Given the description of an element on the screen output the (x, y) to click on. 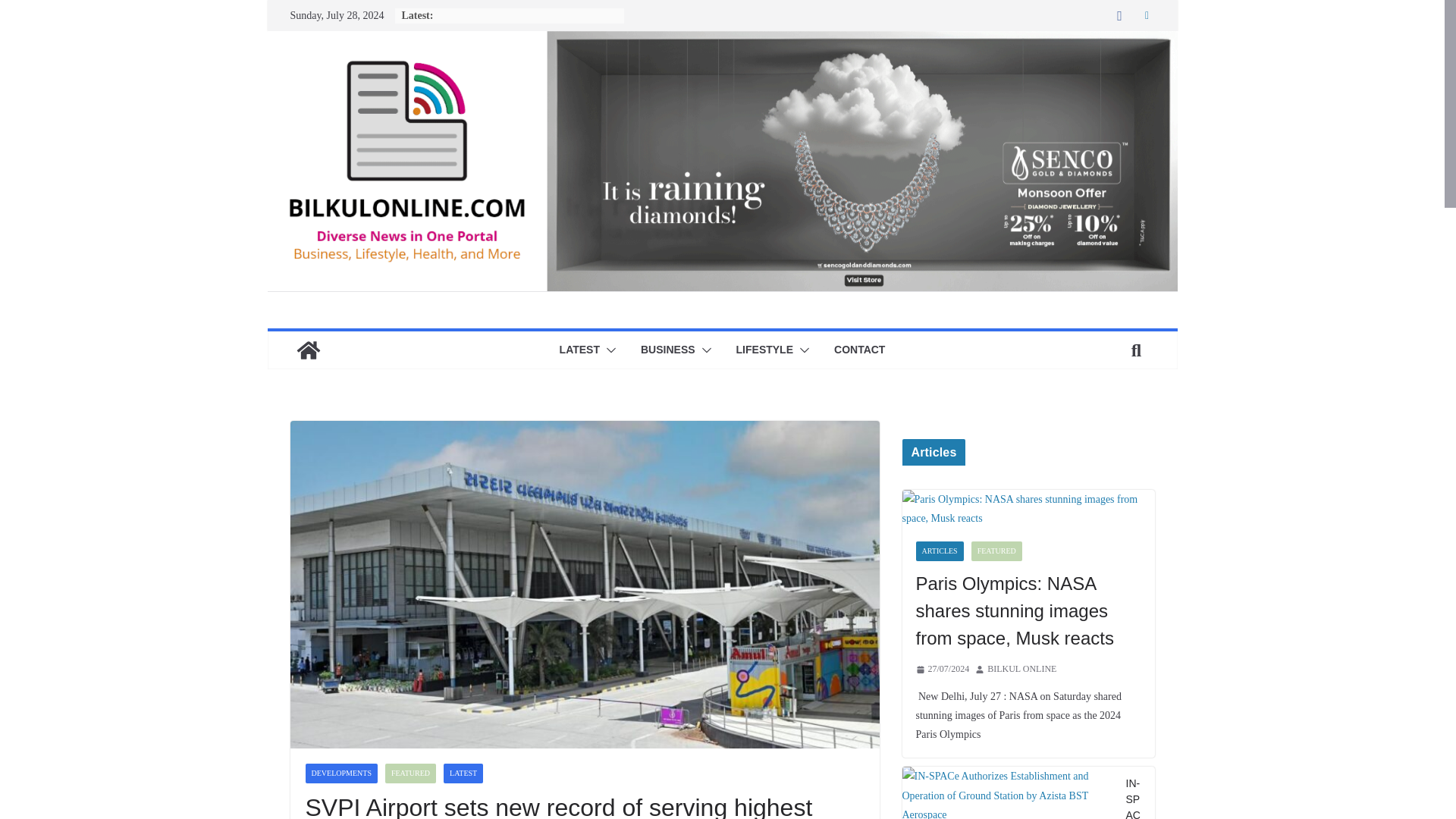
BUSINESS (667, 350)
CONTACT (859, 350)
FEATURED (410, 772)
LIFESTYLE (764, 350)
Bilkul Online (307, 350)
Bilkul Online (721, 41)
DEVELOPMENTS (340, 772)
LATEST (463, 772)
LATEST (579, 350)
